Given the description of an element on the screen output the (x, y) to click on. 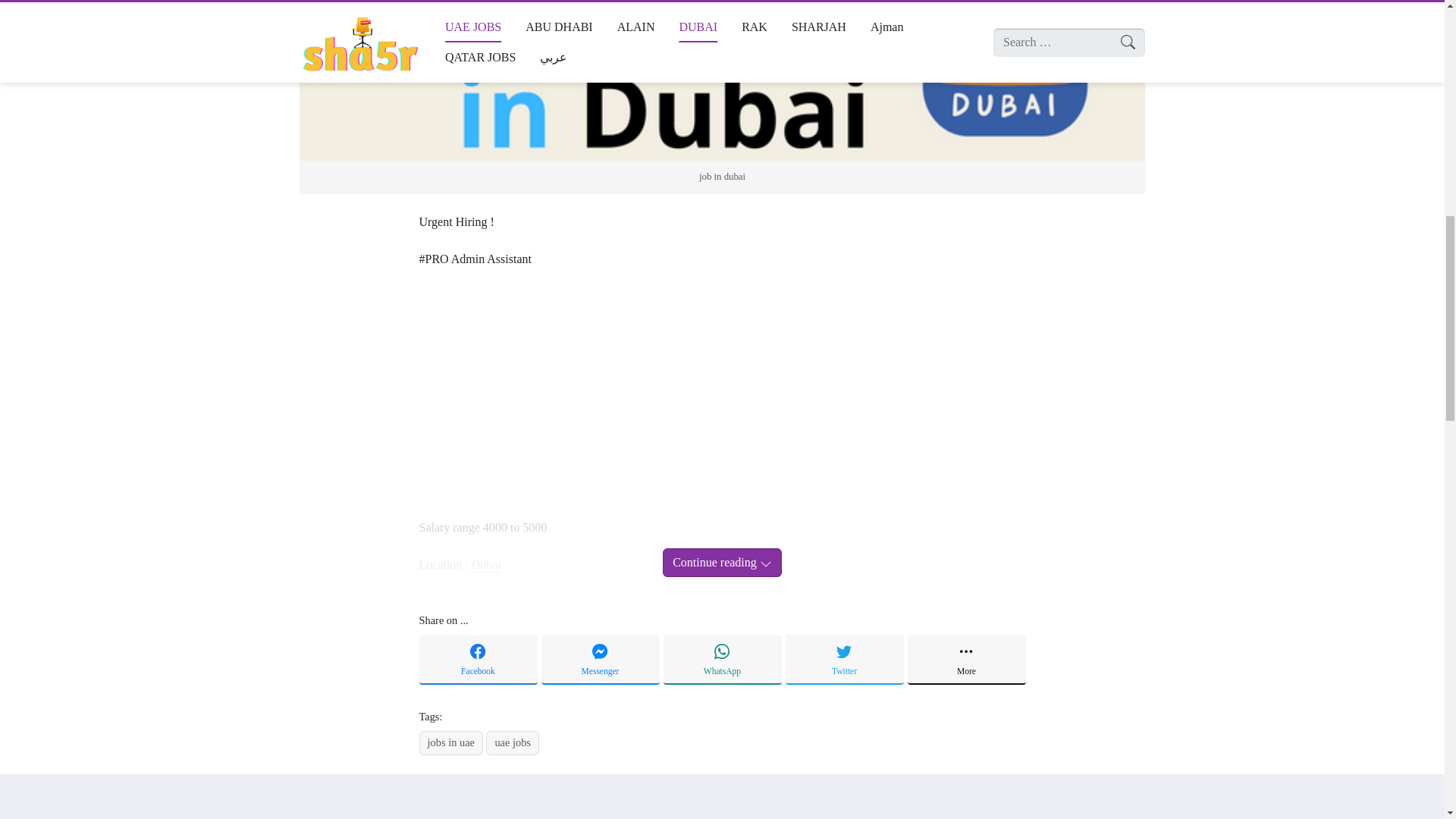
WhatsApp (721, 659)
Facebook (478, 659)
Continue reading (721, 562)
Dubai (485, 563)
Messenger (600, 659)
